Given the description of an element on the screen output the (x, y) to click on. 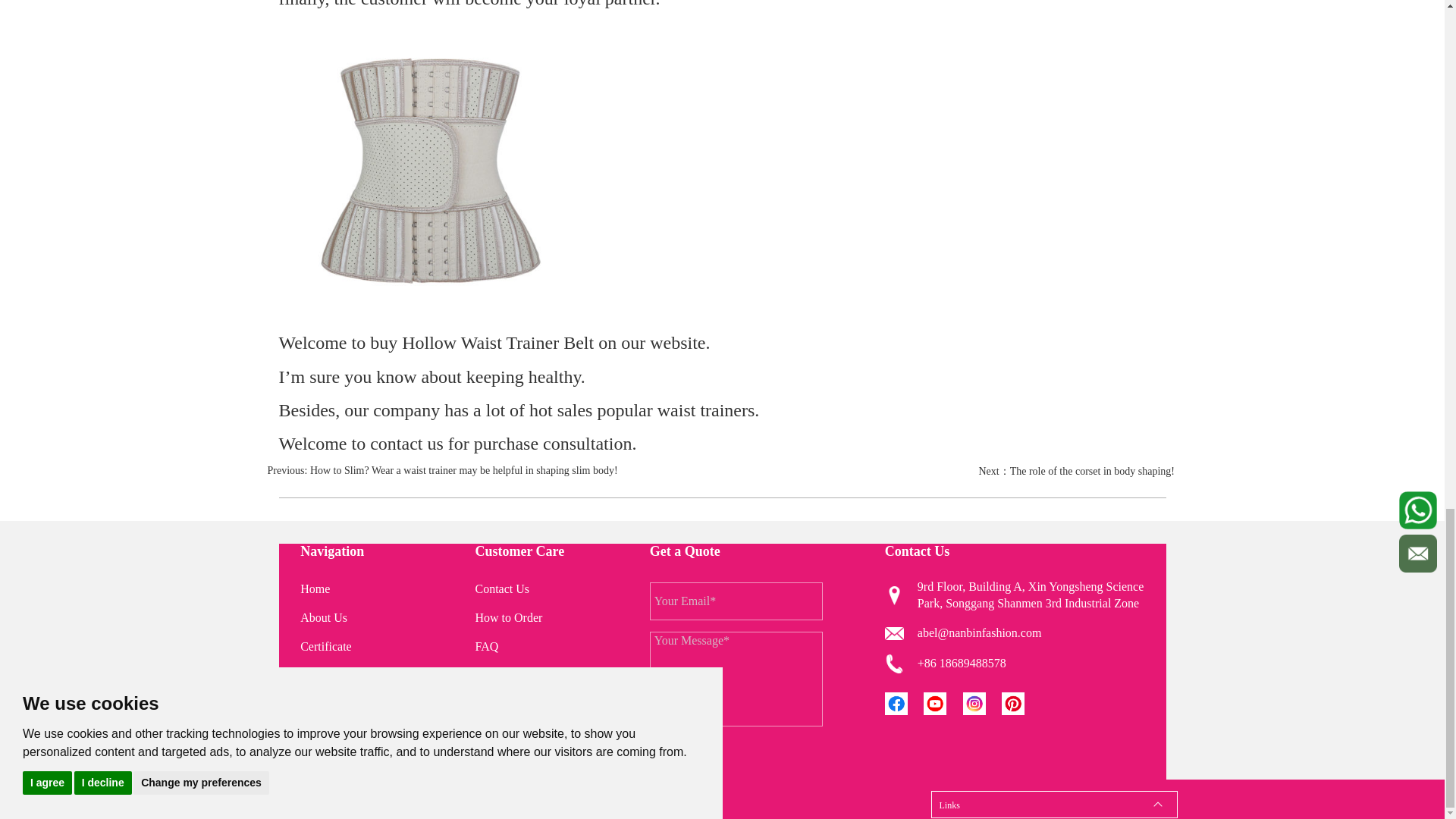
More (982, 702)
More (1019, 702)
More (904, 702)
More (942, 702)
Send (681, 754)
